Given the description of an element on the screen output the (x, y) to click on. 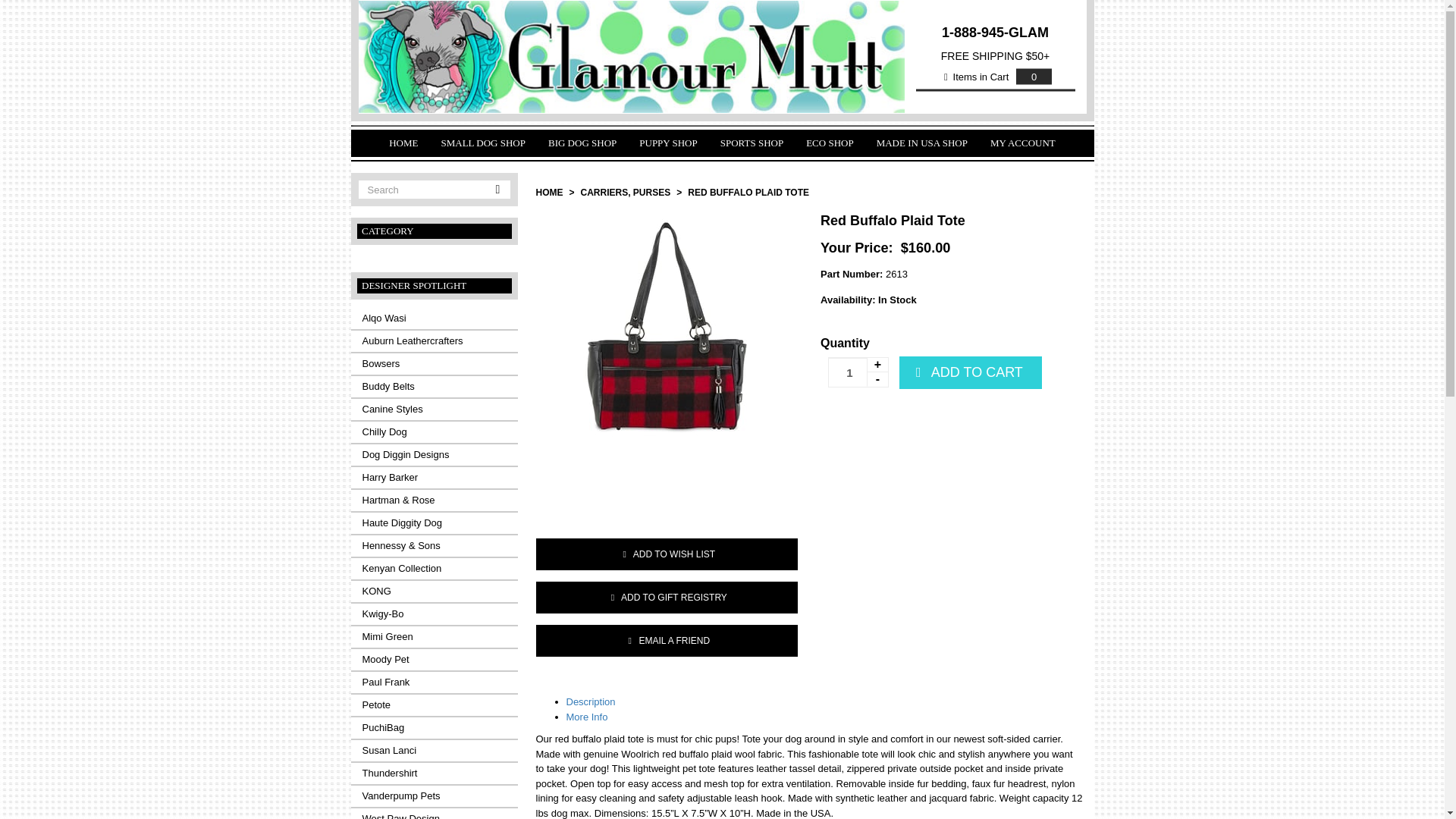
Alqo Wasi (433, 318)
SPORTS SHOP (751, 143)
MY ACCOUNT (1022, 143)
1 (858, 372)
Kwigy-Bo (433, 613)
Petote (433, 704)
Harry Barker (433, 477)
Thundershirt (433, 772)
KONG (433, 590)
ECO SHOP (829, 143)
